Given the description of an element on the screen output the (x, y) to click on. 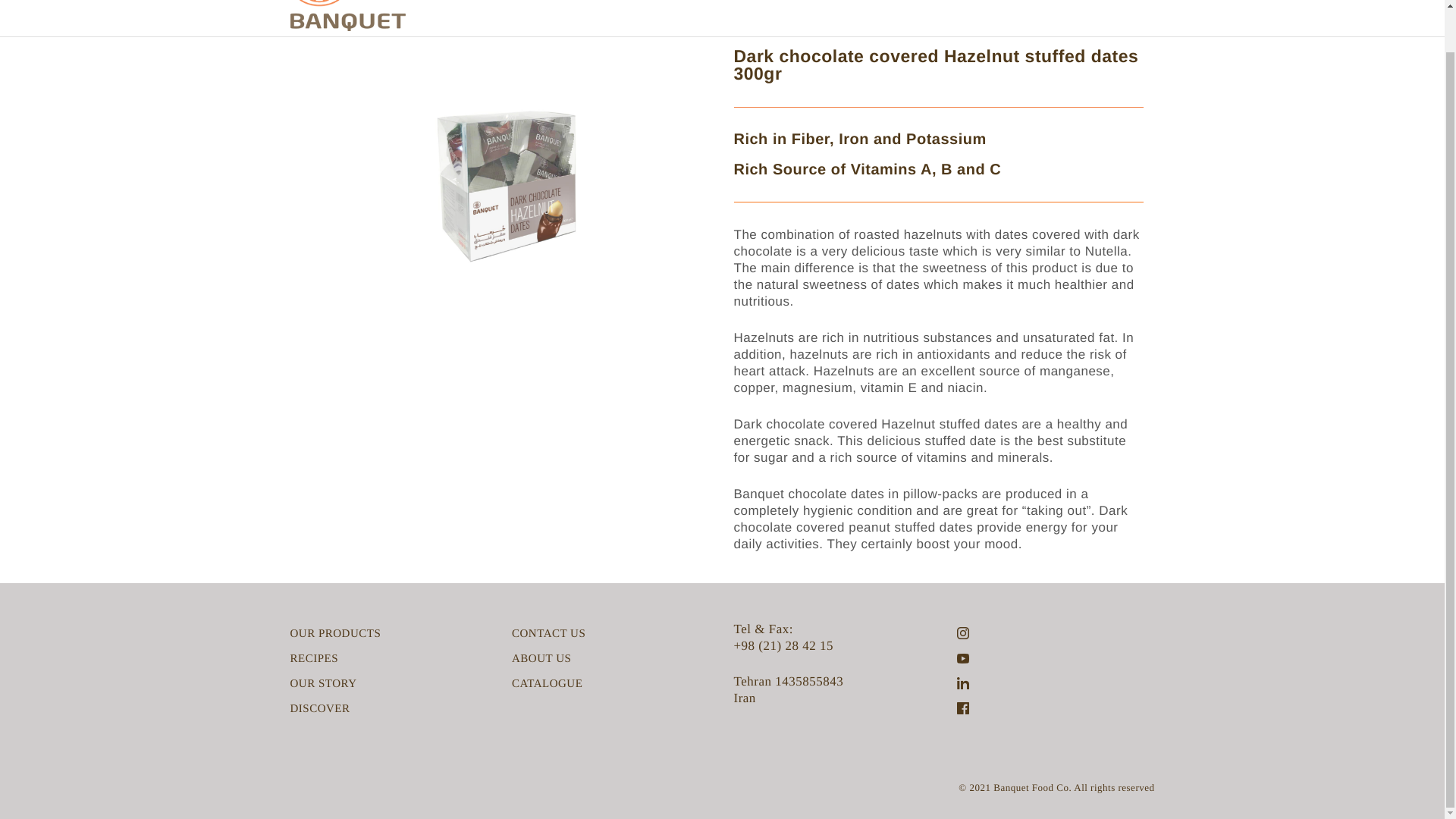
CONTACT US (548, 633)
ABOUT US (541, 658)
RECIPES (313, 658)
DISCOVER (319, 709)
CATALOGUE (547, 683)
OUR STORY (322, 683)
OUR PRODUCTS (334, 633)
